Given the description of an element on the screen output the (x, y) to click on. 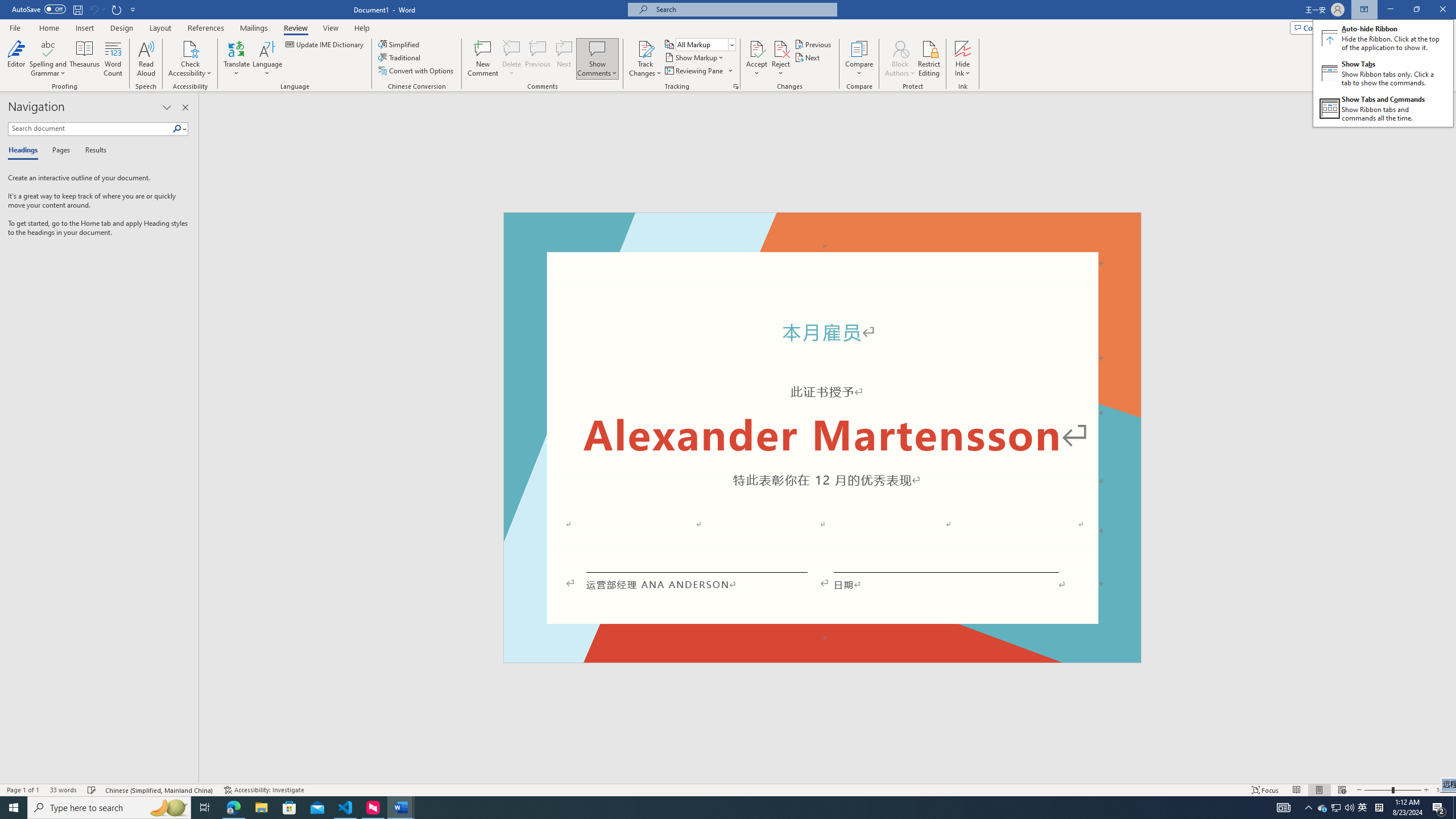
Simplified (400, 44)
Restrict Editing (929, 58)
Track Changes (644, 48)
New Comment (482, 58)
Show Markup (695, 56)
Show desktop (1454, 807)
Microsoft search (742, 9)
Visual Studio Code - 1 running window (345, 807)
Read Aloud (145, 58)
